Given the description of an element on the screen output the (x, y) to click on. 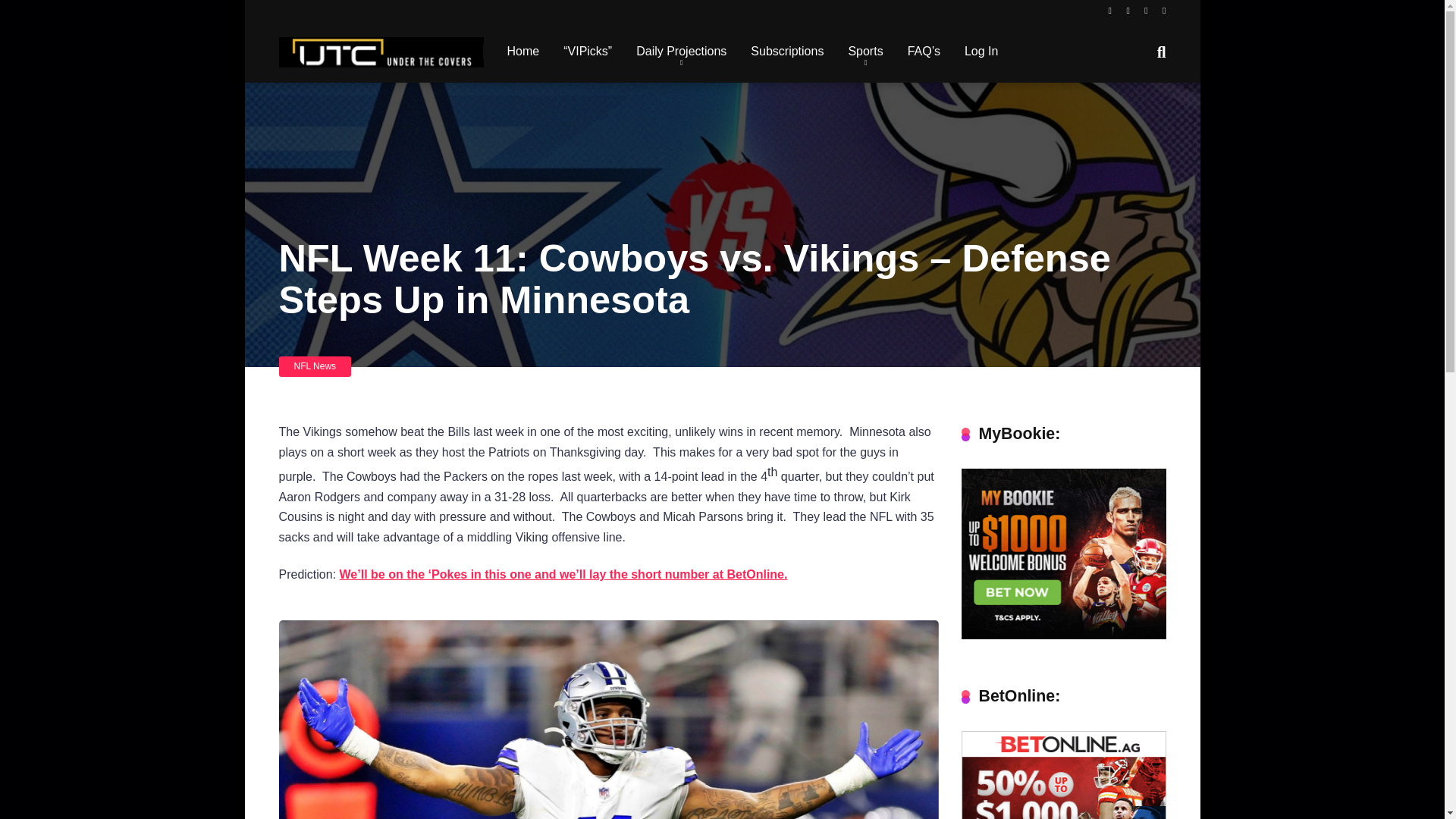
Home (523, 52)
Log In (981, 52)
Subscriptions (786, 52)
Under The Covers (381, 46)
Sports (865, 52)
Daily Projections (681, 52)
NFL News (315, 366)
